Given the description of an element on the screen output the (x, y) to click on. 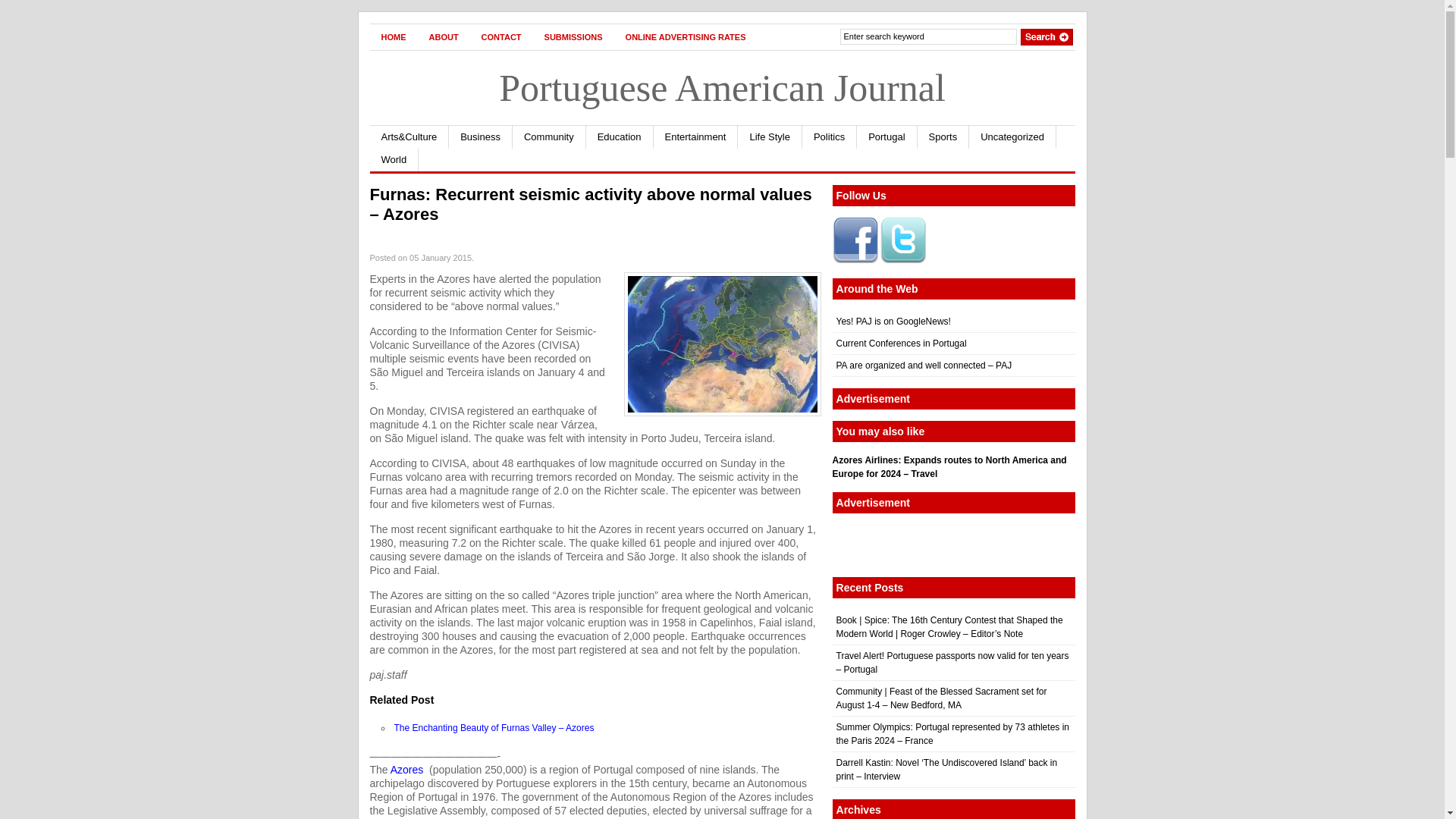
Education (619, 137)
Go (1046, 36)
Community (549, 137)
Portuguese American Journal (721, 87)
ABOUT (442, 36)
Life Style (770, 137)
Portugal (887, 137)
a (406, 769)
Enter search keyword (928, 36)
ONLINE ADVERTISING RATES (685, 36)
Business (480, 137)
CONTACT (501, 36)
Politics (829, 137)
HOME (393, 36)
Entertainment (695, 137)
